Given the description of an element on the screen output the (x, y) to click on. 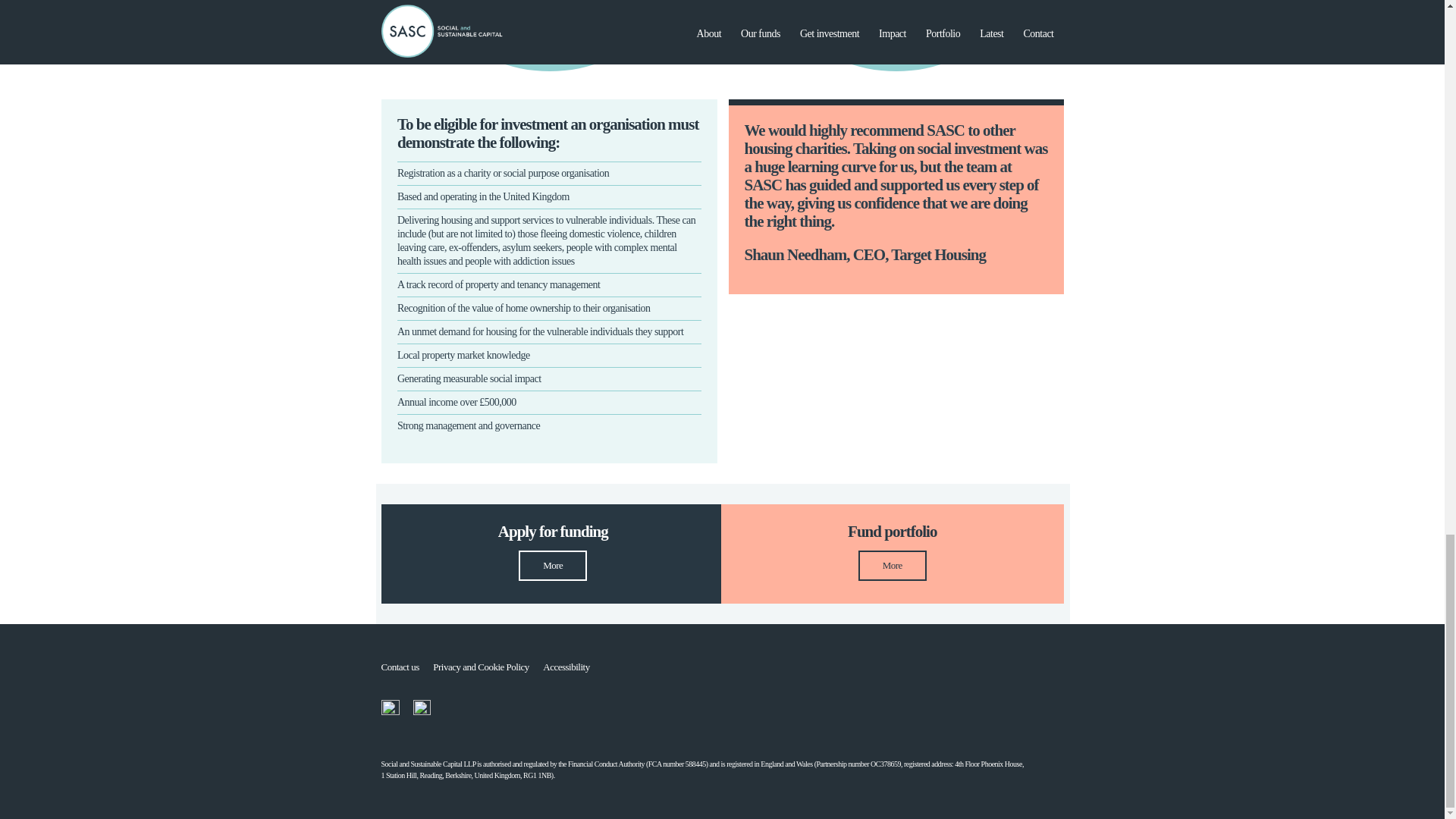
Accessibility (571, 666)
More (552, 565)
Privacy and Cookie Policy (486, 666)
Contact us (404, 666)
More (892, 565)
